Given the description of an element on the screen output the (x, y) to click on. 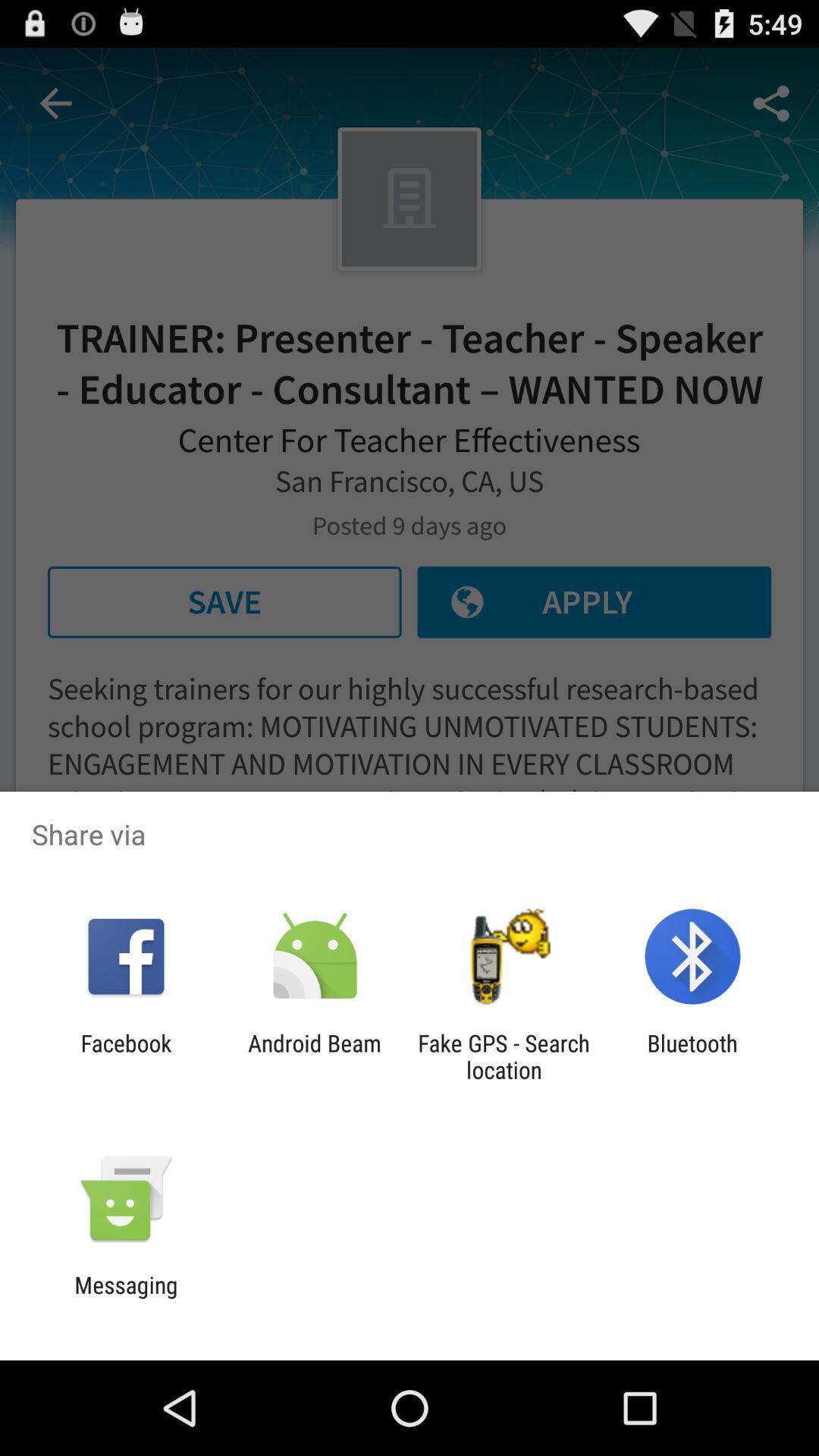
press app to the right of the facebook (314, 1056)
